Given the description of an element on the screen output the (x, y) to click on. 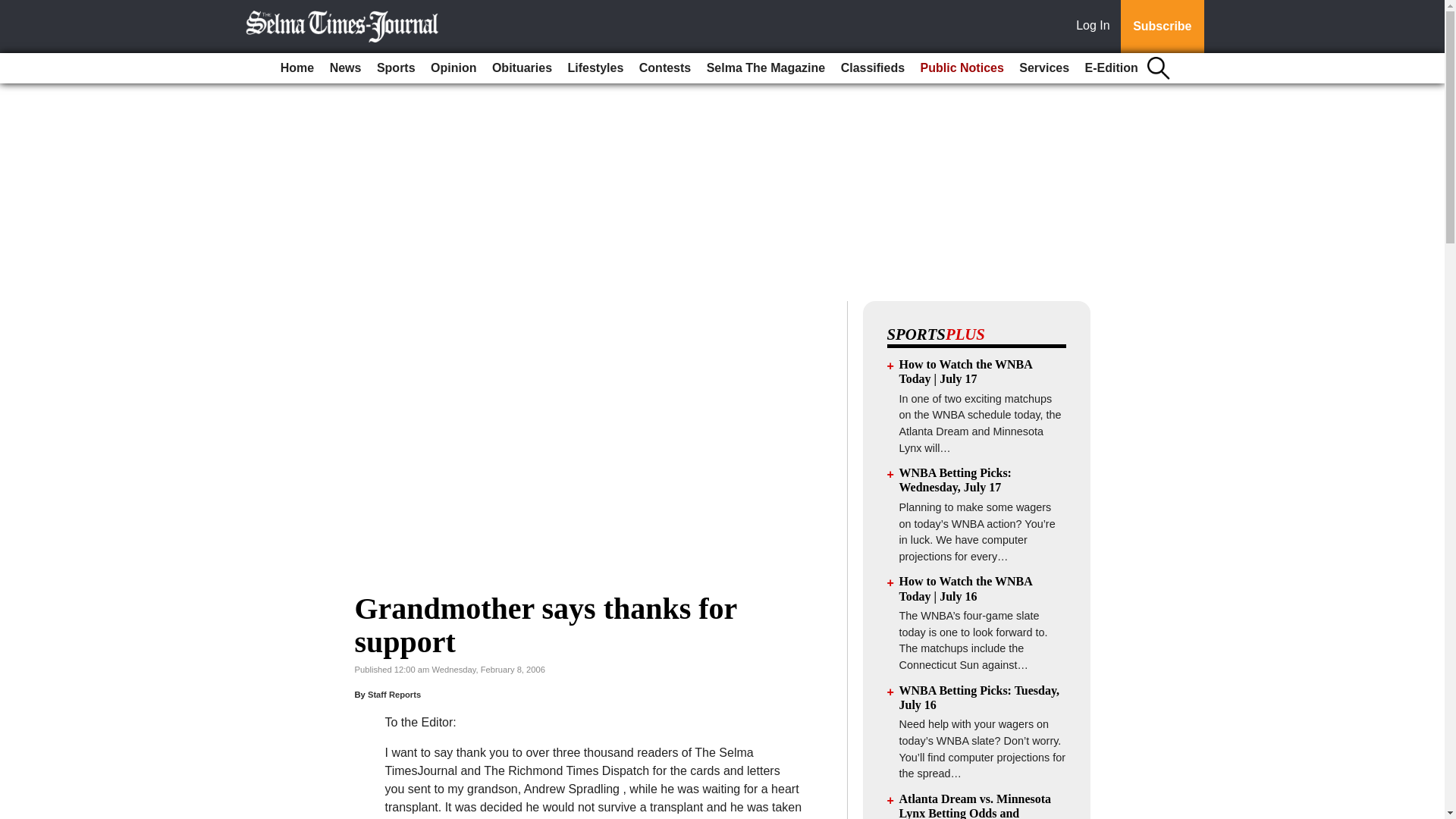
Log In (1095, 26)
Sports (396, 68)
WNBA Betting Picks: Tuesday, July 16 (979, 697)
E-Edition (1111, 68)
Classifieds (872, 68)
Opinion (453, 68)
Lifestyles (596, 68)
Public Notices (962, 68)
Home (297, 68)
Staff Reports (394, 694)
Go (13, 9)
Selma The Magazine (765, 68)
News (345, 68)
Services (1044, 68)
Subscribe (1162, 26)
